Given the description of an element on the screen output the (x, y) to click on. 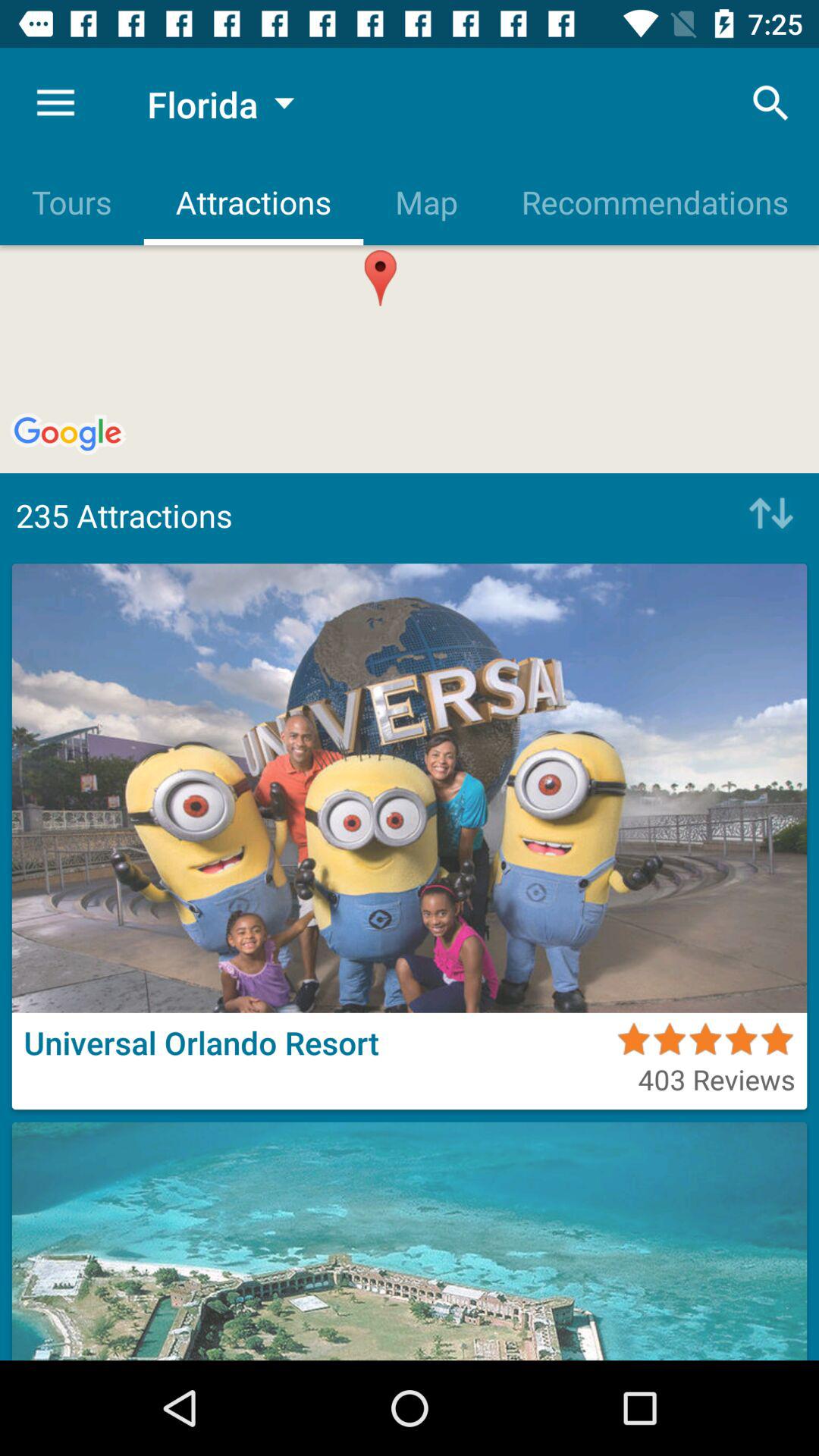
turn off the app to the right of the map item (771, 103)
